Given the description of an element on the screen output the (x, y) to click on. 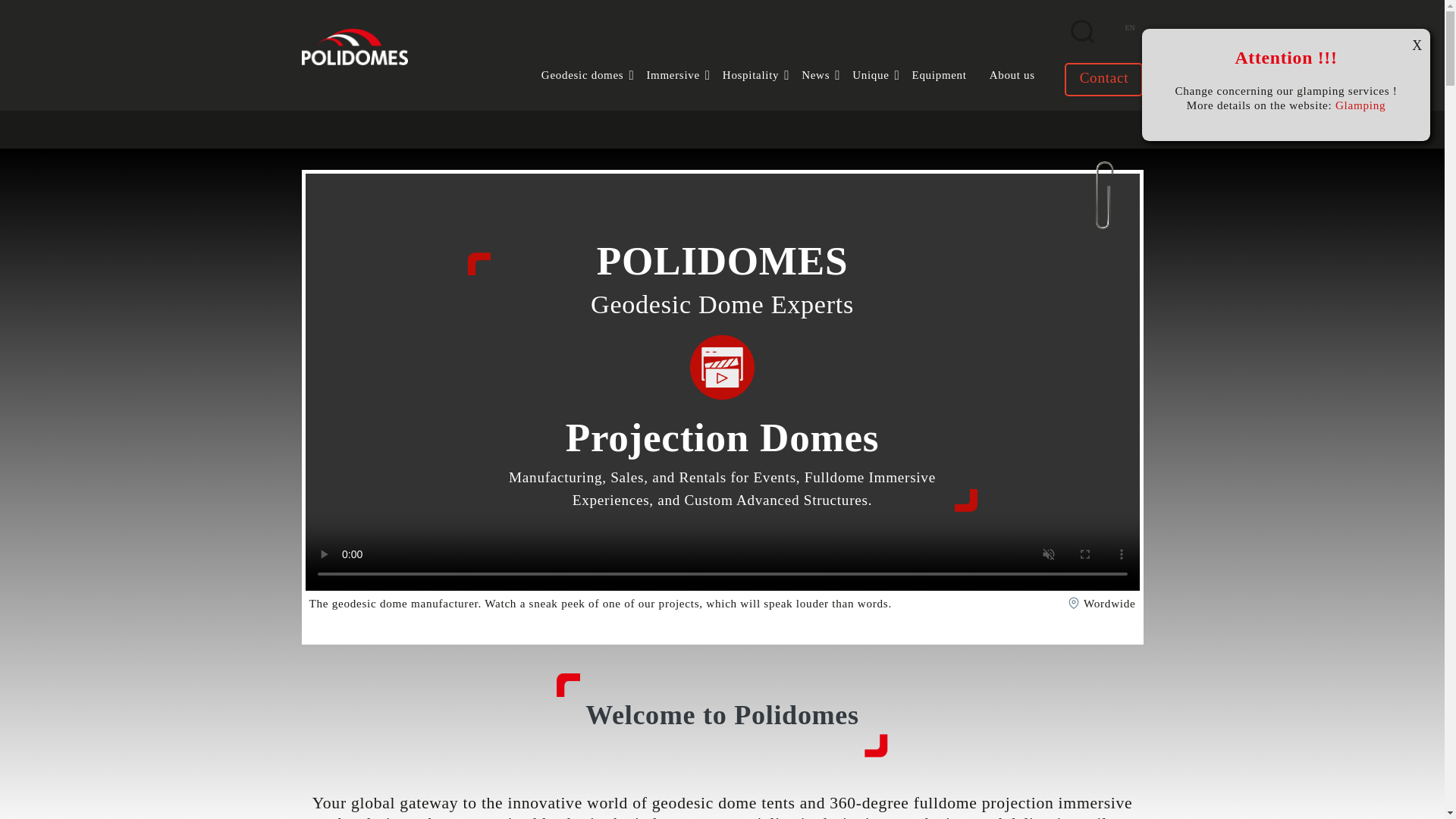
Unique (1127, 27)
Equipment (881, 75)
Immersive (951, 75)
News (684, 75)
Immersive (826, 75)
Glamping (684, 75)
Hospitality (1360, 104)
Contact (762, 75)
Hospitality (1103, 78)
Geodesic domes (762, 75)
About us (593, 75)
Geodesic domes (1024, 75)
